Given the description of an element on the screen output the (x, y) to click on. 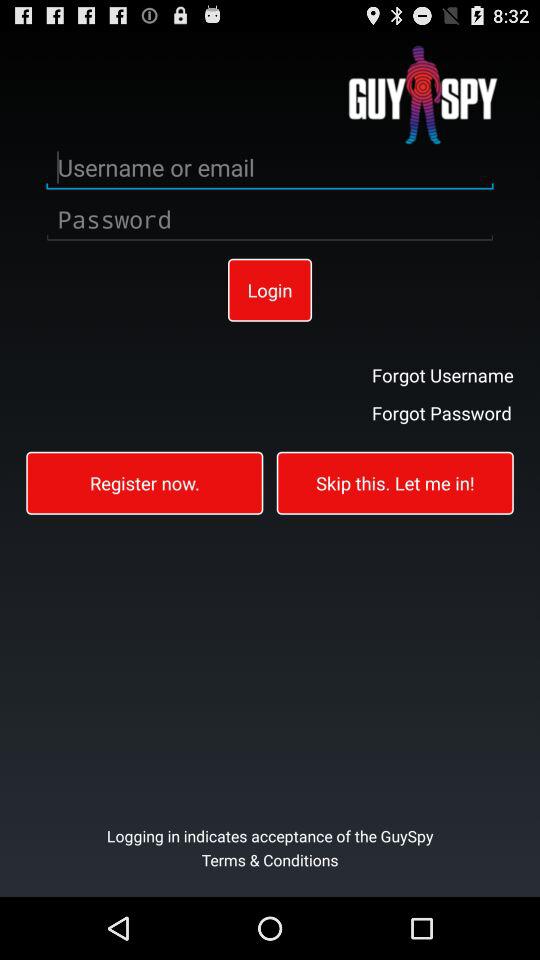
tap the item below login button (144, 482)
